Given the description of an element on the screen output the (x, y) to click on. 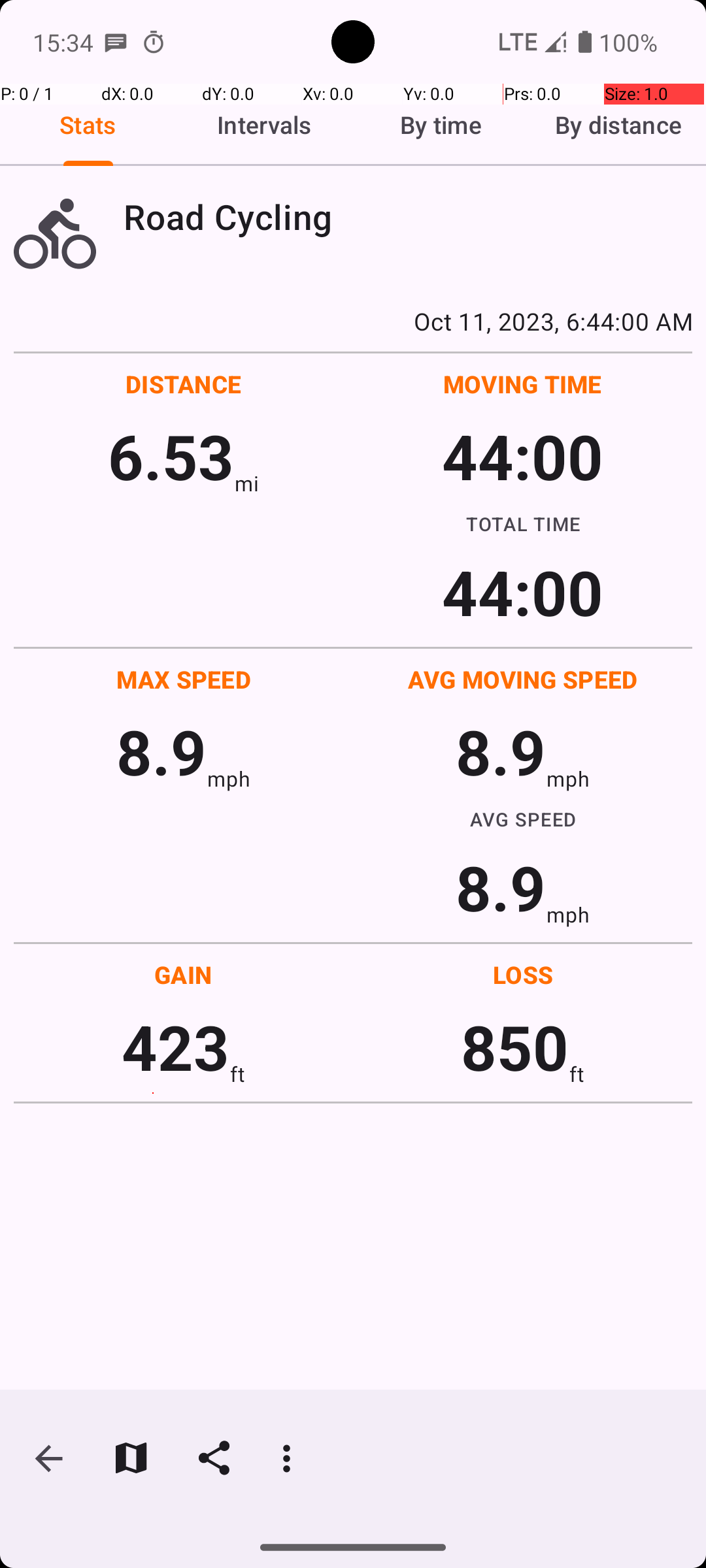
Road Cycling Element type: android.widget.TextView (407, 216)
Oct 11, 2023, 6:44:00 AM Element type: android.widget.TextView (352, 320)
6.53 Element type: android.widget.TextView (170, 455)
44:00 Element type: android.widget.TextView (522, 455)
8.9 Element type: android.widget.TextView (161, 750)
423 Element type: android.widget.TextView (175, 1045)
850 Element type: android.widget.TextView (514, 1045)
